Given the description of an element on the screen output the (x, y) to click on. 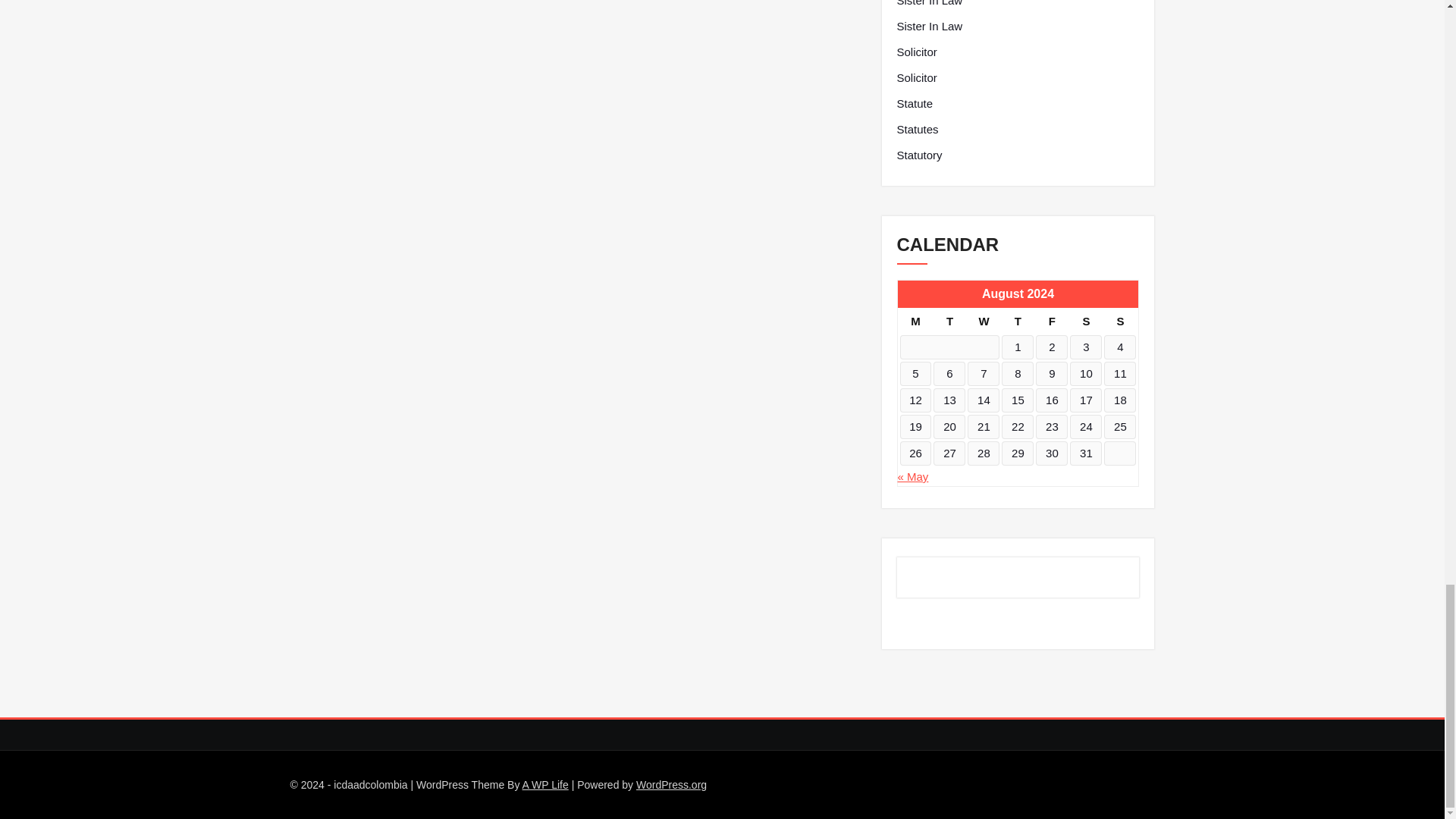
Tuesday (949, 321)
Wednesday (983, 321)
Sunday (1119, 321)
Saturday (1086, 321)
Friday (1051, 321)
Monday (915, 321)
Thursday (1017, 321)
